Given the description of an element on the screen output the (x, y) to click on. 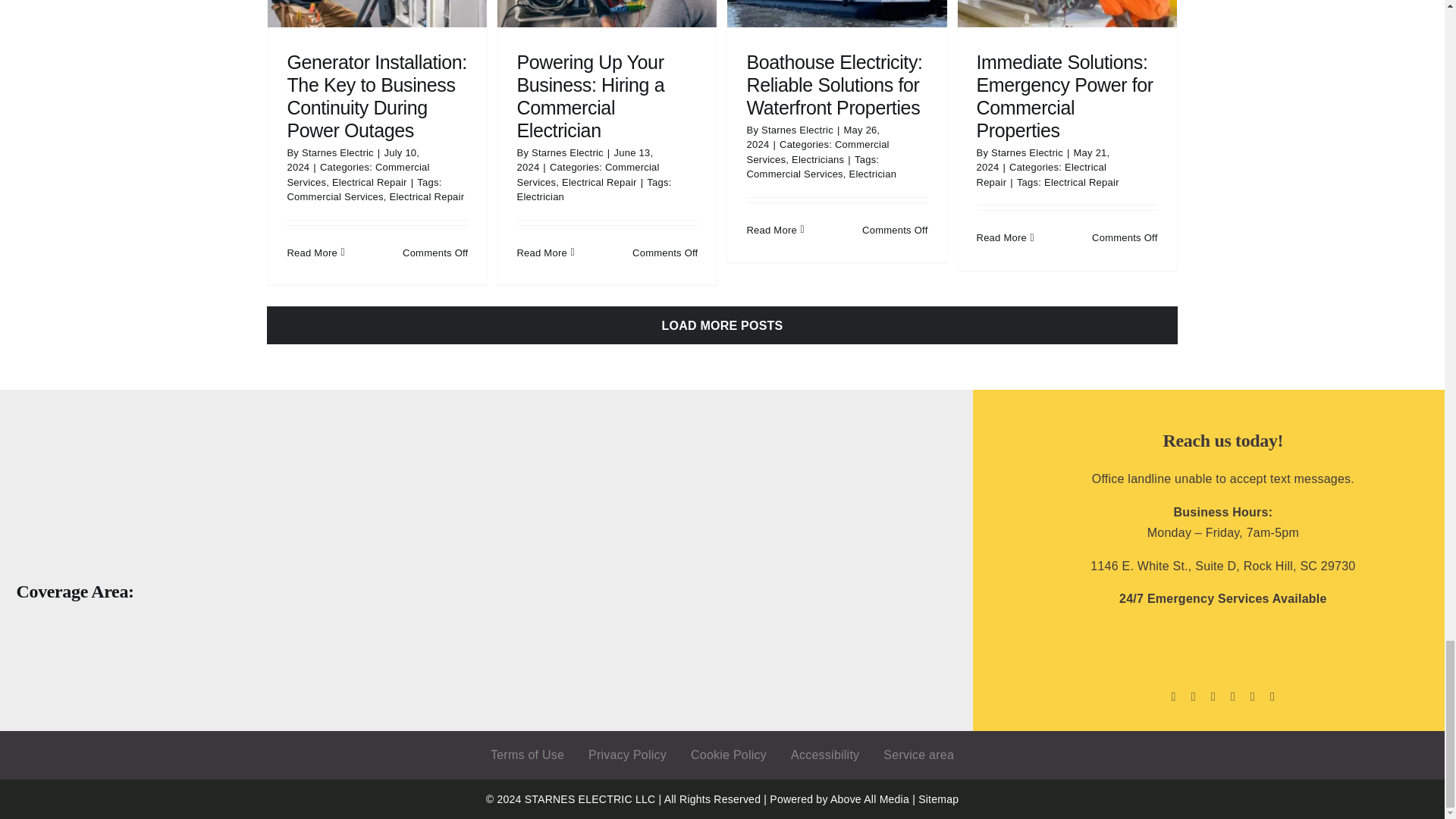
Posts by Starnes Electric (1026, 152)
Posts by Starnes Electric (796, 129)
Posts by Starnes Electric (337, 152)
Posts by Starnes Electric (567, 152)
